Given the description of an element on the screen output the (x, y) to click on. 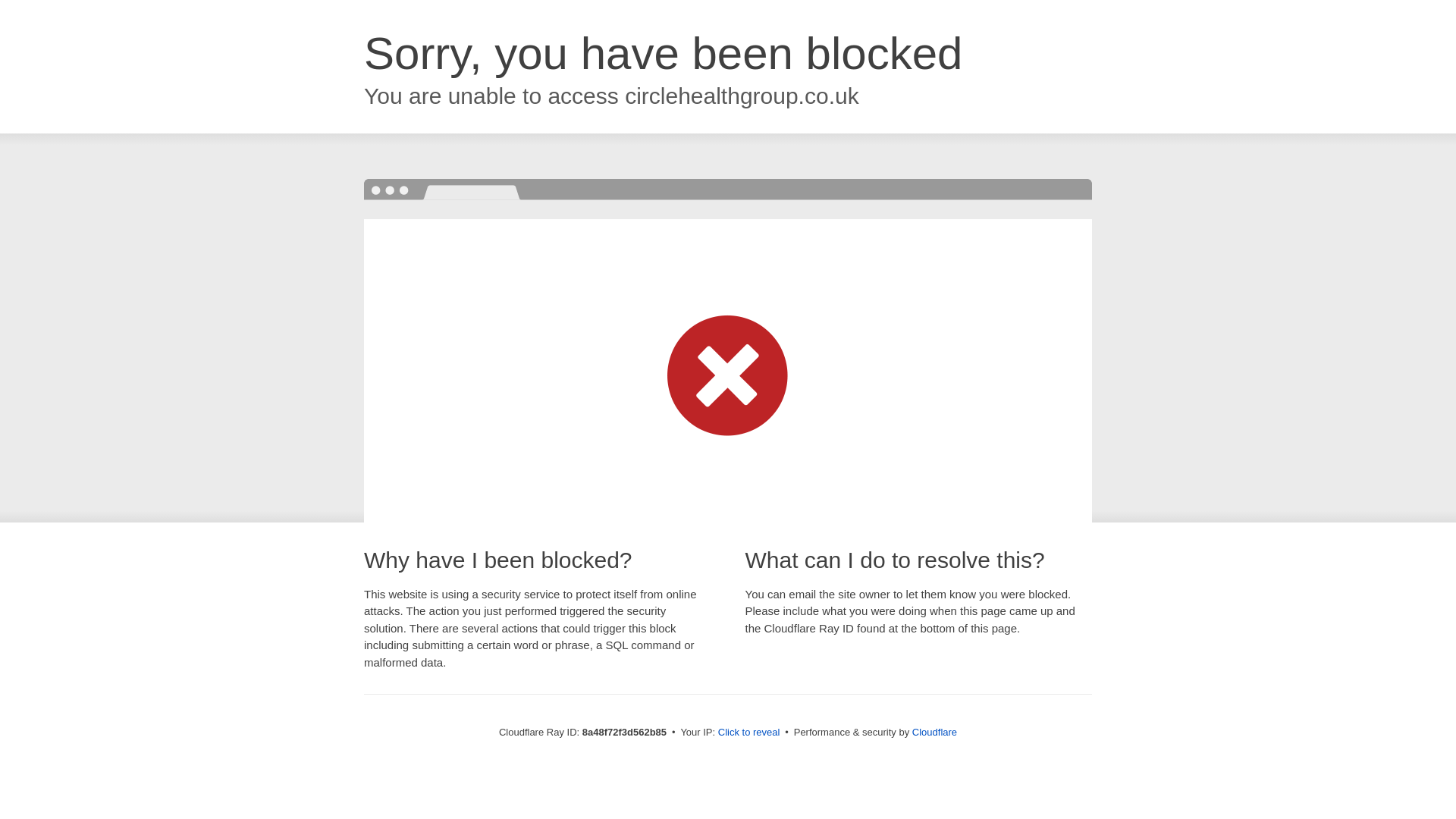
Click to reveal (748, 732)
Cloudflare (934, 731)
